Given the description of an element on the screen output the (x, y) to click on. 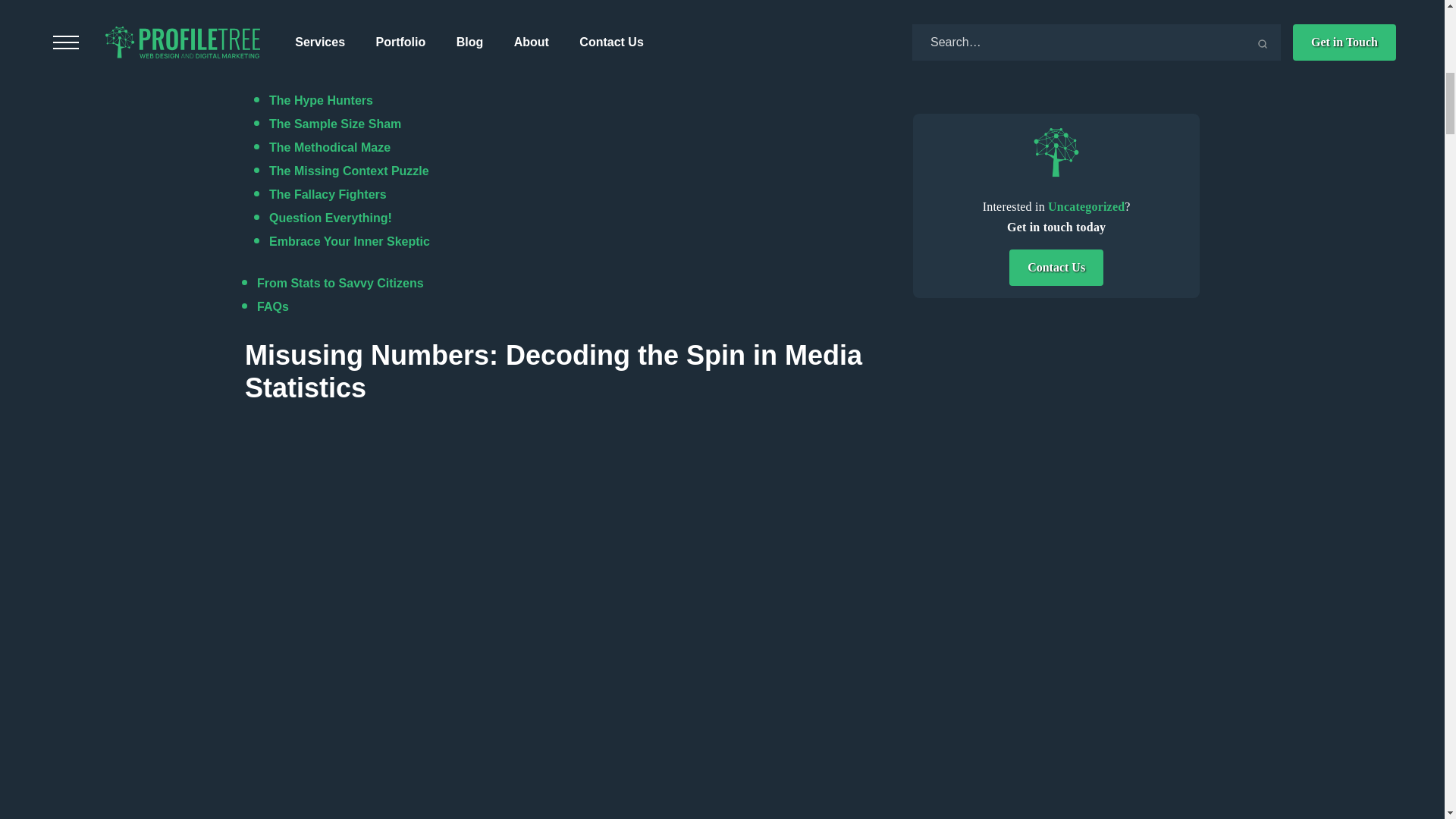
Question Everything! (330, 217)
The Fallacy Fighters (328, 194)
The Methodical Maze (329, 146)
The Missing Context Puzzle (349, 170)
2. The Chart-o-Matic Catastrophe (364, 11)
The Hype Hunters (320, 100)
The Sample Size Sham (335, 123)
3. The Smartphone Saga (339, 34)
